Given the description of an element on the screen output the (x, y) to click on. 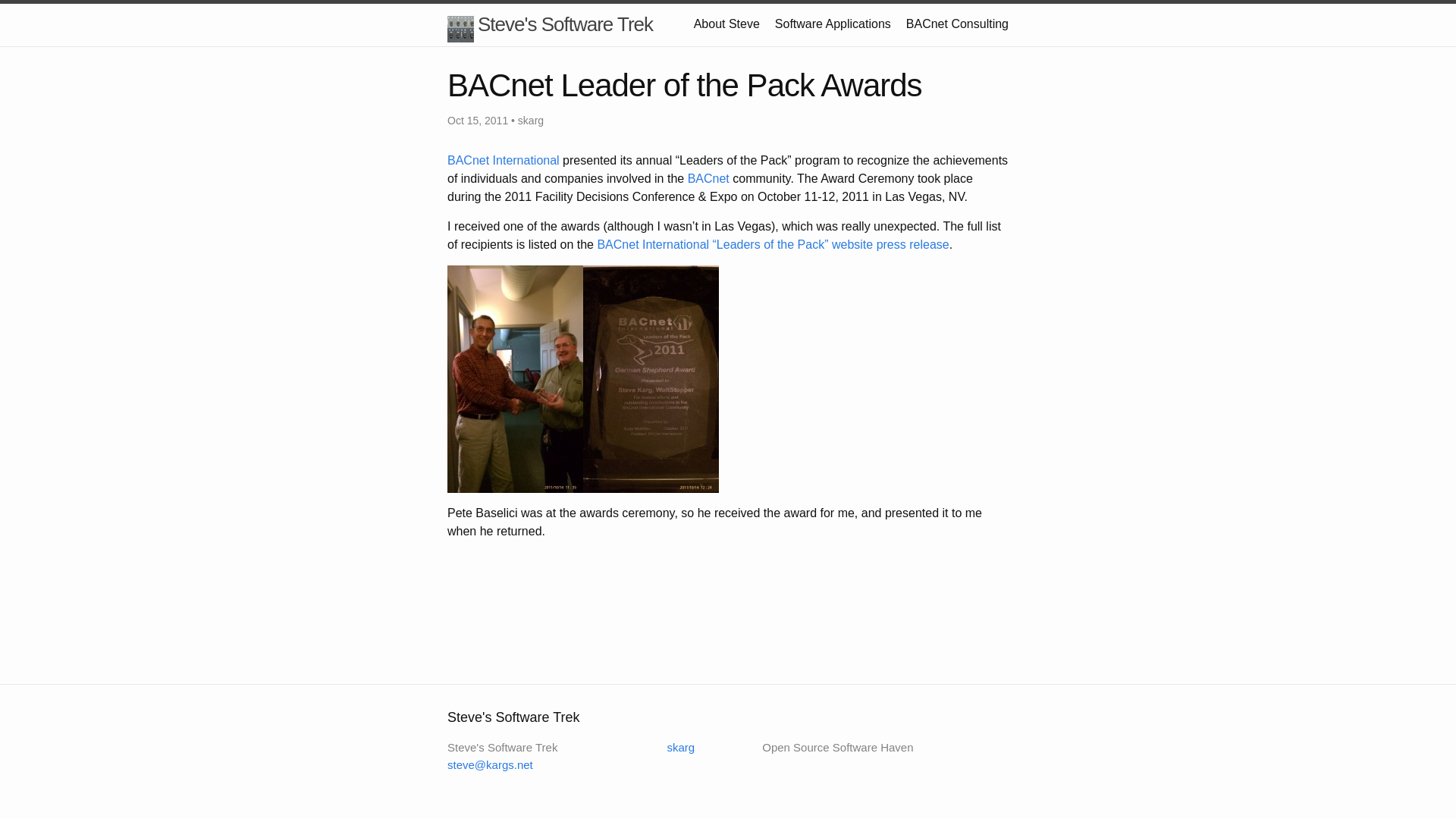
Software Applications (832, 23)
About Steve (727, 23)
BACnet (710, 178)
BACnet International (502, 160)
Steve's Software Trek (549, 24)
skarg (670, 747)
BACnet Consulting (957, 23)
